Given the description of an element on the screen output the (x, y) to click on. 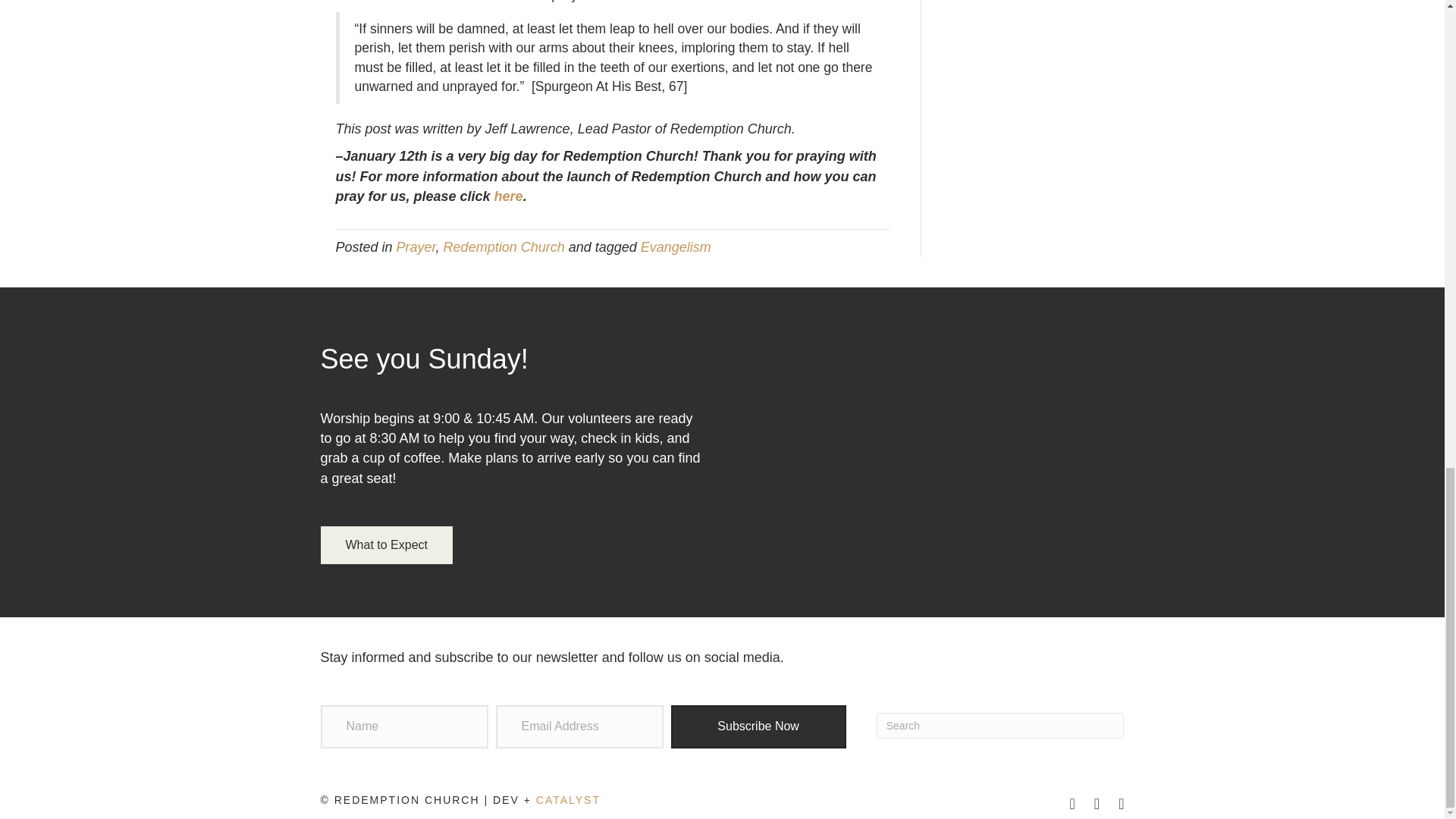
Type and press Enter to search. (1000, 725)
Redemption Church (504, 246)
Page 1 (722, 657)
Evangelism (675, 246)
Prayer (415, 246)
Subscribe Now (758, 726)
CATALYST (567, 799)
here (508, 196)
What to Expect (386, 545)
